Given the description of an element on the screen output the (x, y) to click on. 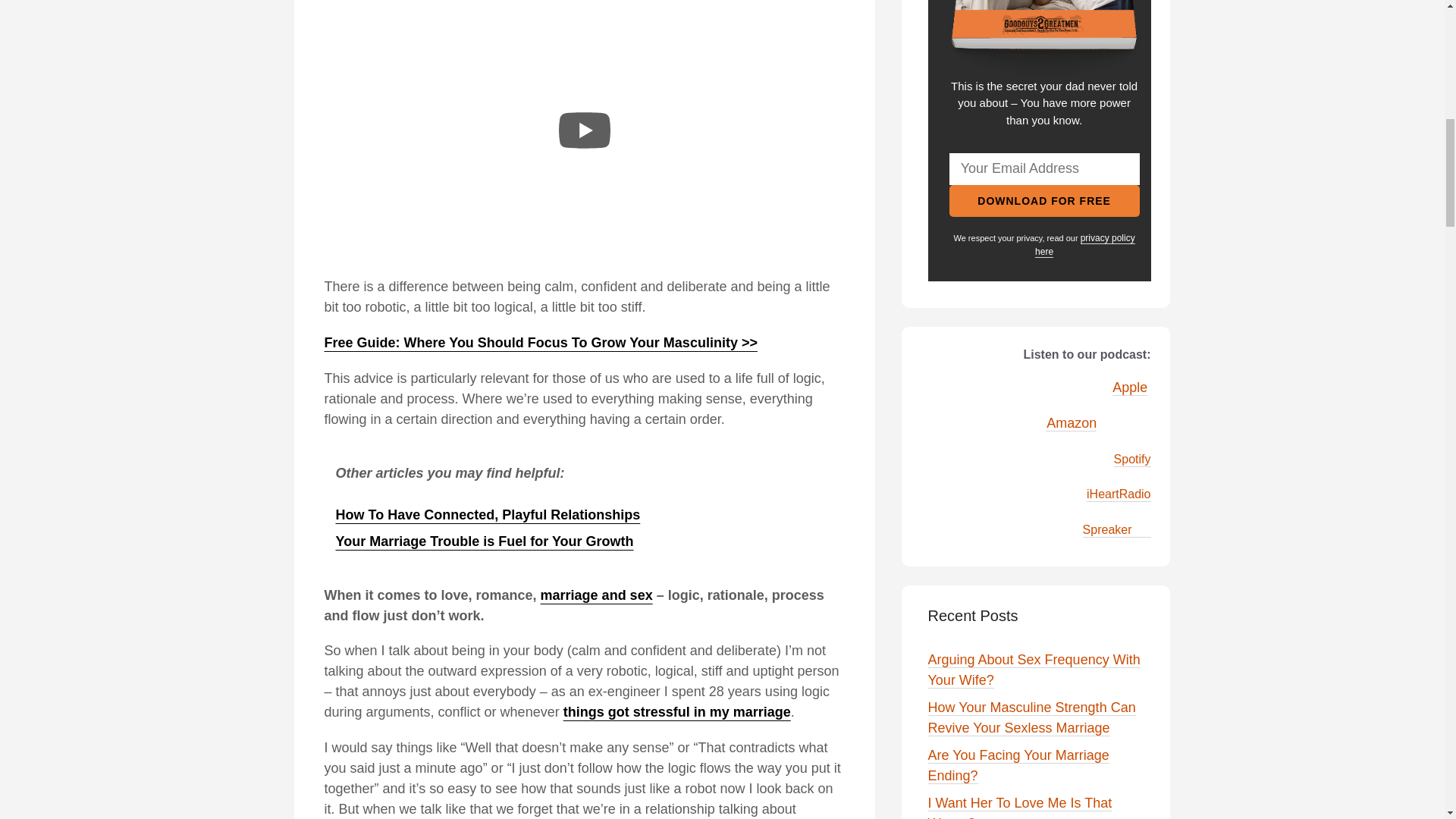
Download for Free (1044, 201)
Scroll back to top (1406, 720)
Privacy Policy (1085, 244)
